Given the description of an element on the screen output the (x, y) to click on. 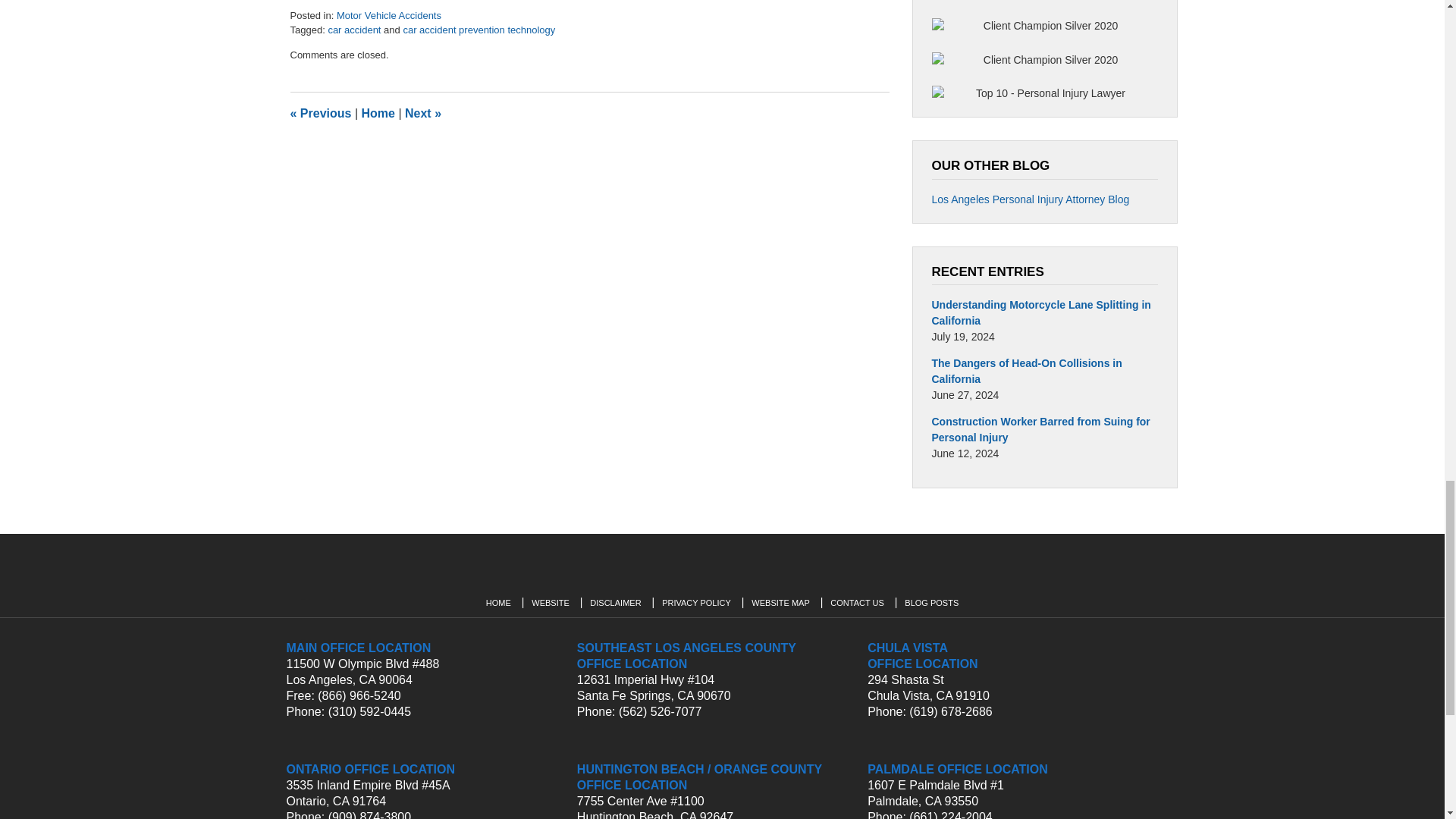
View all posts in Motor Vehicle Accidents (388, 15)
car accident prevention technology (478, 30)
car accident (353, 30)
San Bernardino County Dangerous Roadway Verdict (319, 113)
California May Require Adults to Wear Bike Helmets (422, 113)
View all posts tagged with car accident (353, 30)
Motor Vehicle Accidents (388, 15)
Home (377, 113)
